Given the description of an element on the screen output the (x, y) to click on. 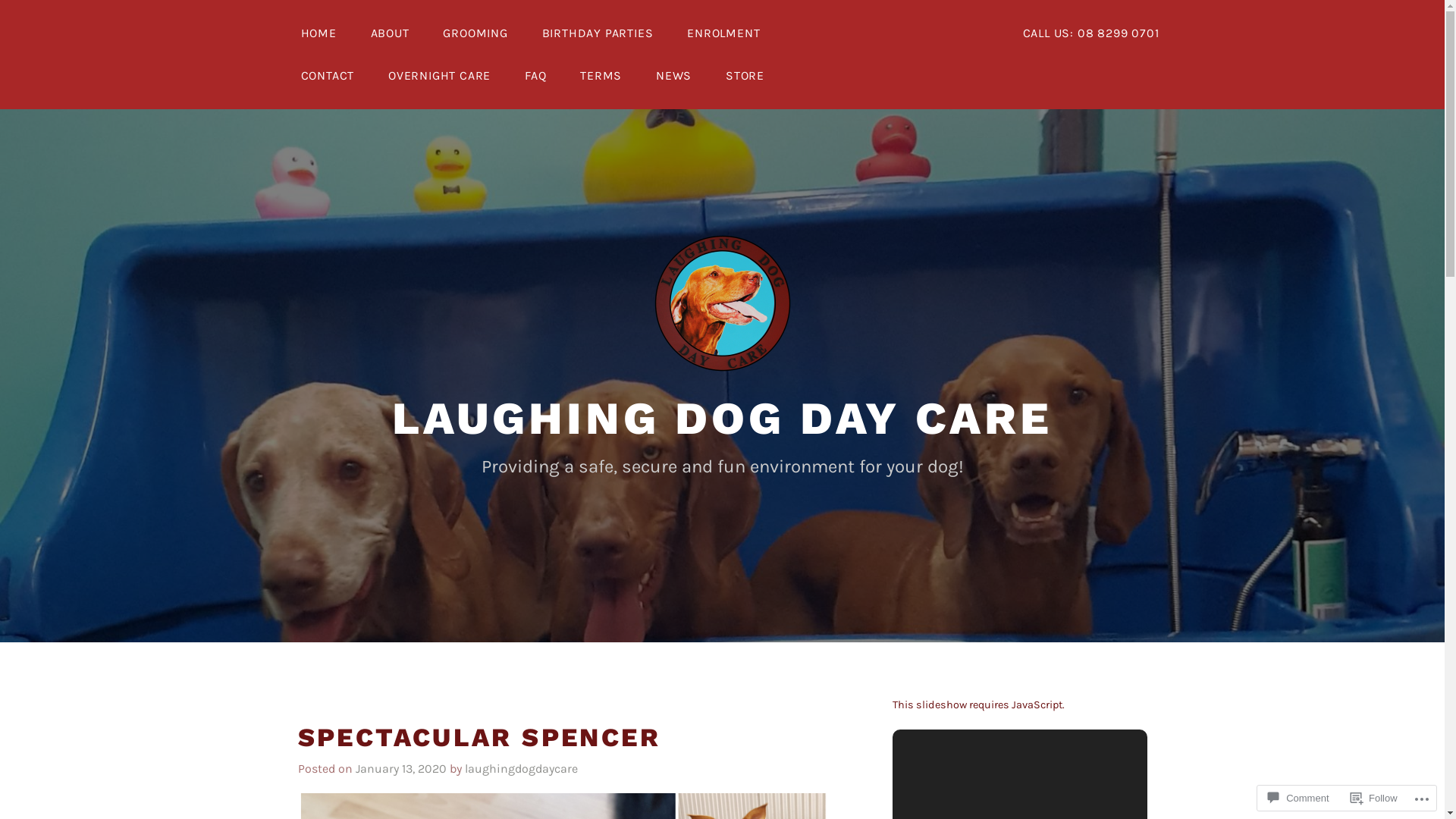
LAUGHING DOG DAY CARE Element type: text (722, 418)
HOME Element type: text (318, 33)
TERMS Element type: text (600, 75)
OVERNIGHT CARE Element type: text (439, 75)
CONTACT Element type: text (327, 75)
laughingdogdaycare Element type: text (520, 769)
NEWS Element type: text (673, 75)
January 13, 2020 Element type: text (399, 769)
GROOMING Element type: text (474, 33)
STORE Element type: text (744, 75)
FAQ Element type: text (535, 75)
Comment Element type: text (1297, 797)
ABOUT Element type: text (389, 33)
BIRTHDAY PARTIES Element type: text (597, 33)
ENROLMENT Element type: text (723, 33)
Follow Element type: text (1373, 797)
